Given the description of an element on the screen output the (x, y) to click on. 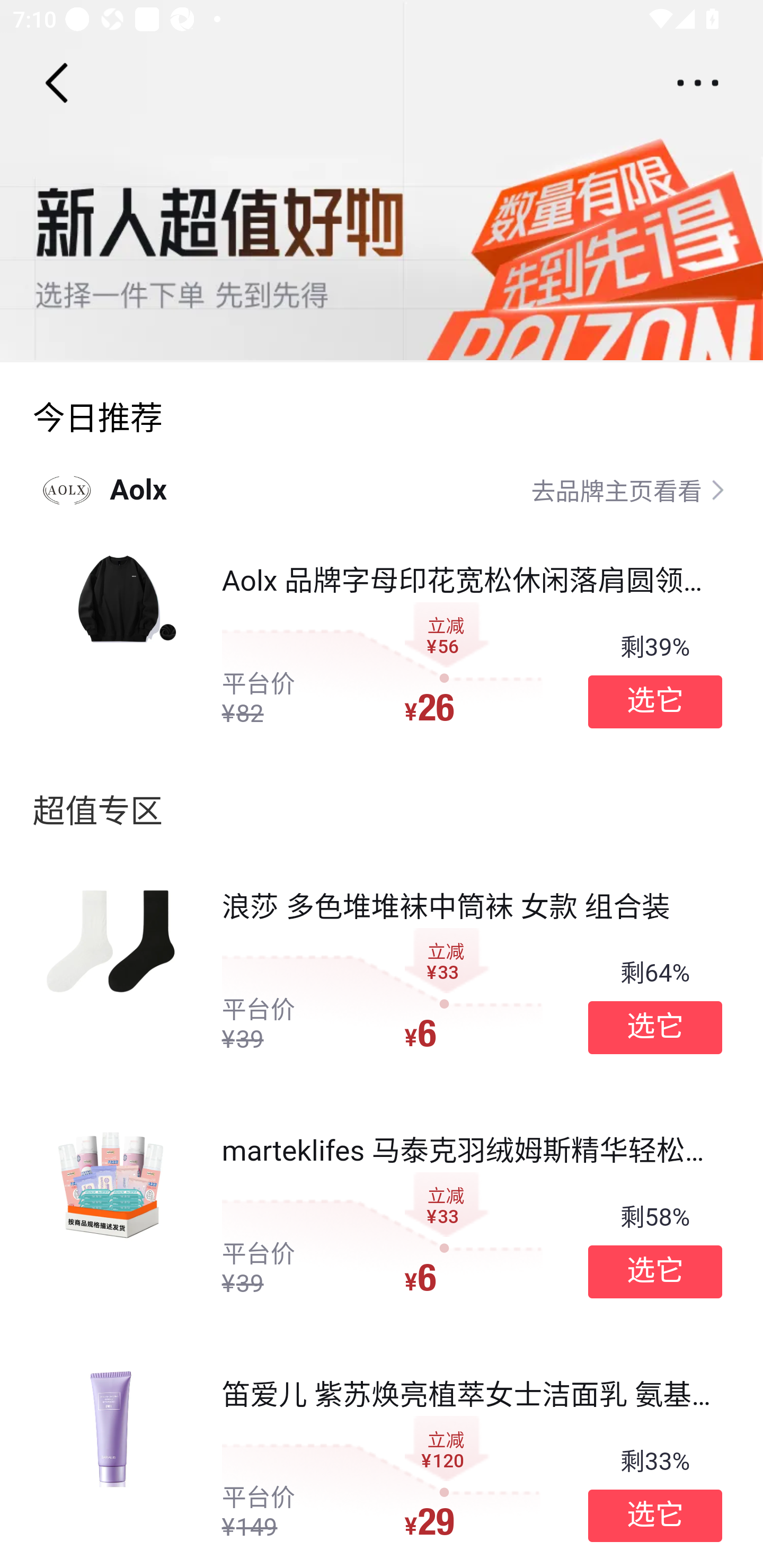
Aolx去品牌主页看看 (381, 489)
选它 (654, 701)
浪莎 多色堆堆袜中筒袜 女款 组合装 平台价 ¥ 39 立减¥33 ¥ 6 剩64% 选它 (381, 971)
选它 (654, 1027)
选它 (654, 1271)
选它 (654, 1515)
